Given the description of an element on the screen output the (x, y) to click on. 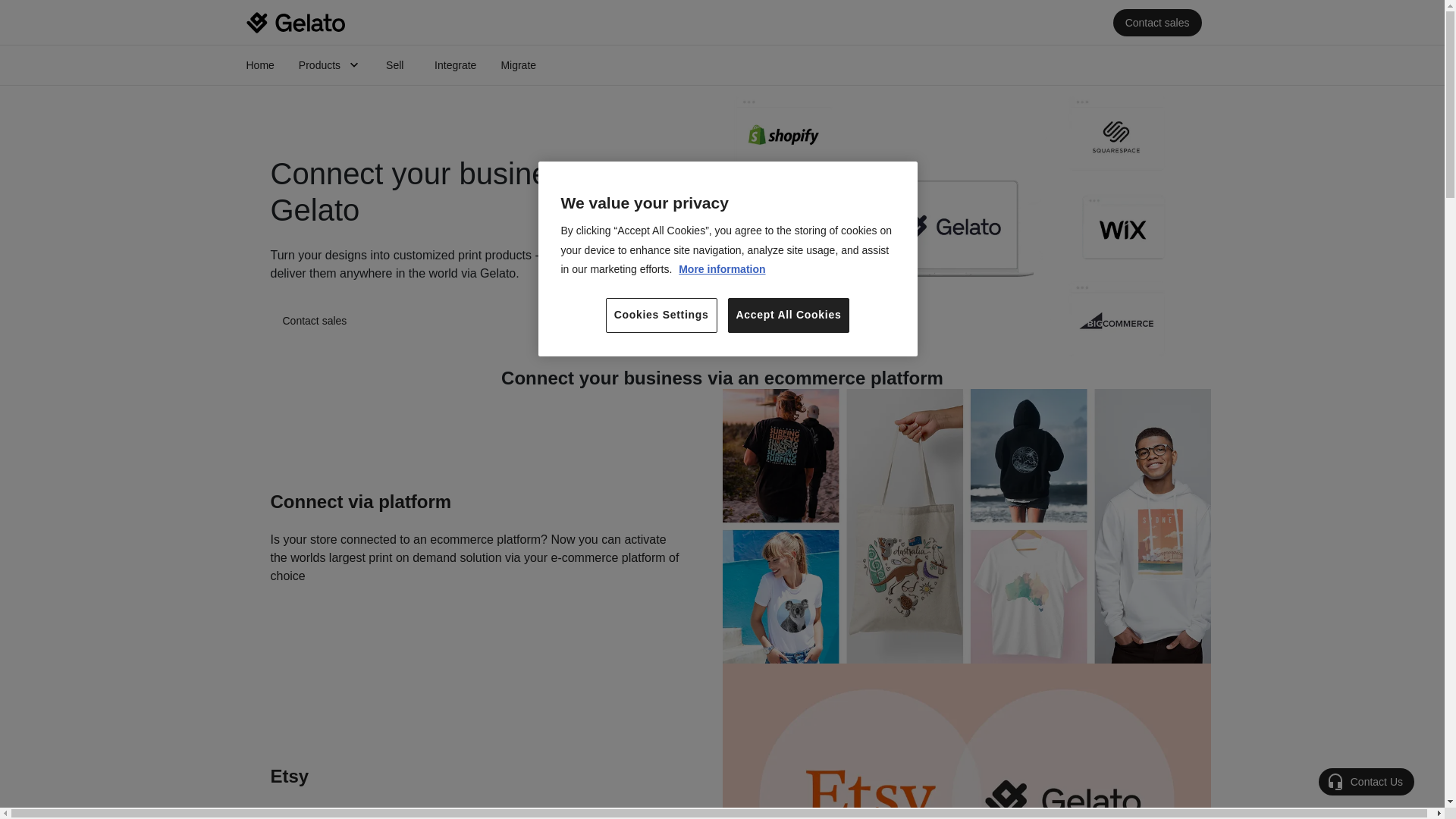
Sell (398, 65)
Home (258, 65)
Products (330, 65)
Contact sales (1157, 22)
Contact sales (313, 320)
Integrate (454, 65)
Migrate (517, 65)
